Given the description of an element on the screen output the (x, y) to click on. 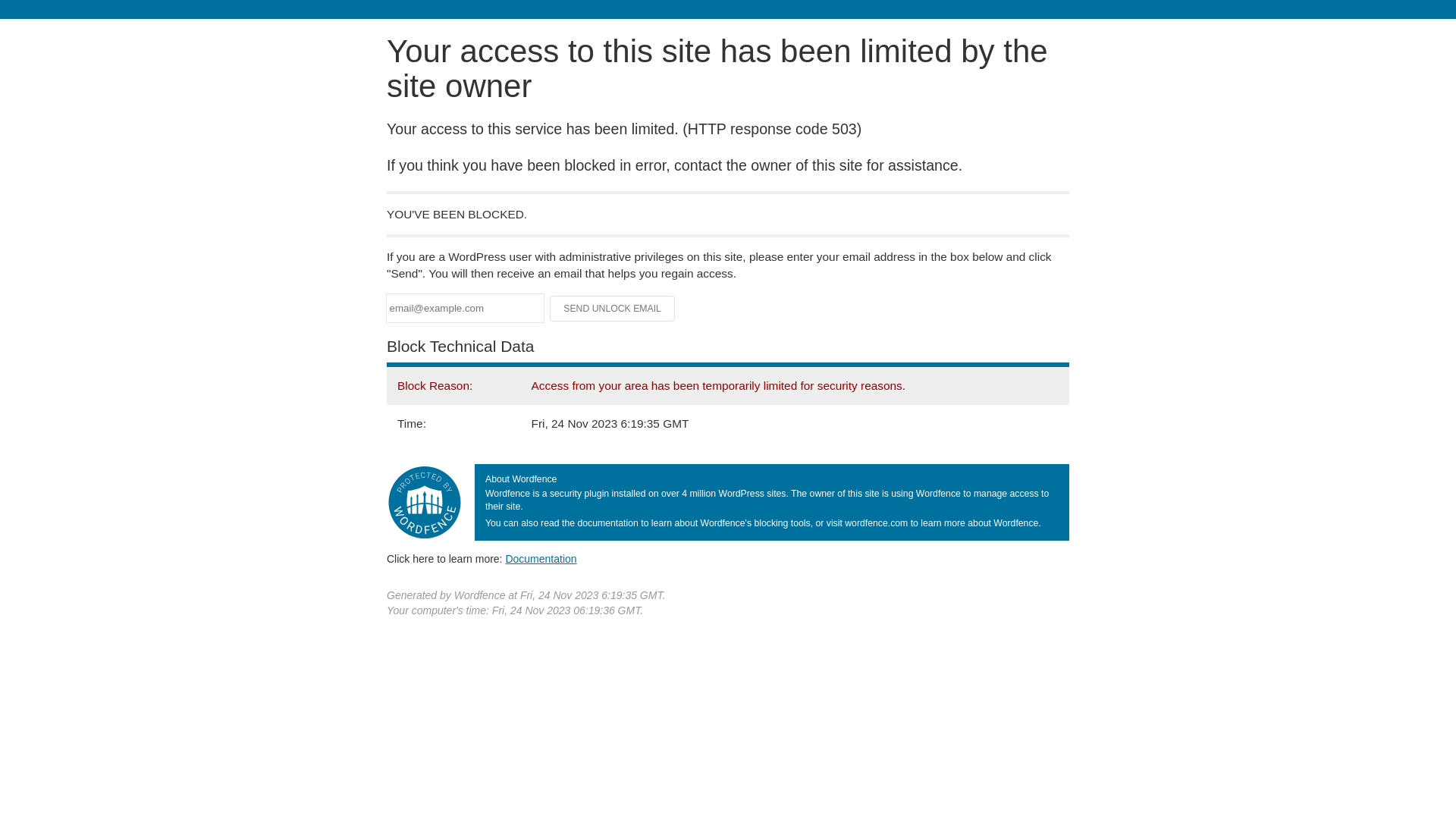
Documentation Element type: text (540, 558)
Send Unlock Email Element type: text (612, 308)
